Given the description of an element on the screen output the (x, y) to click on. 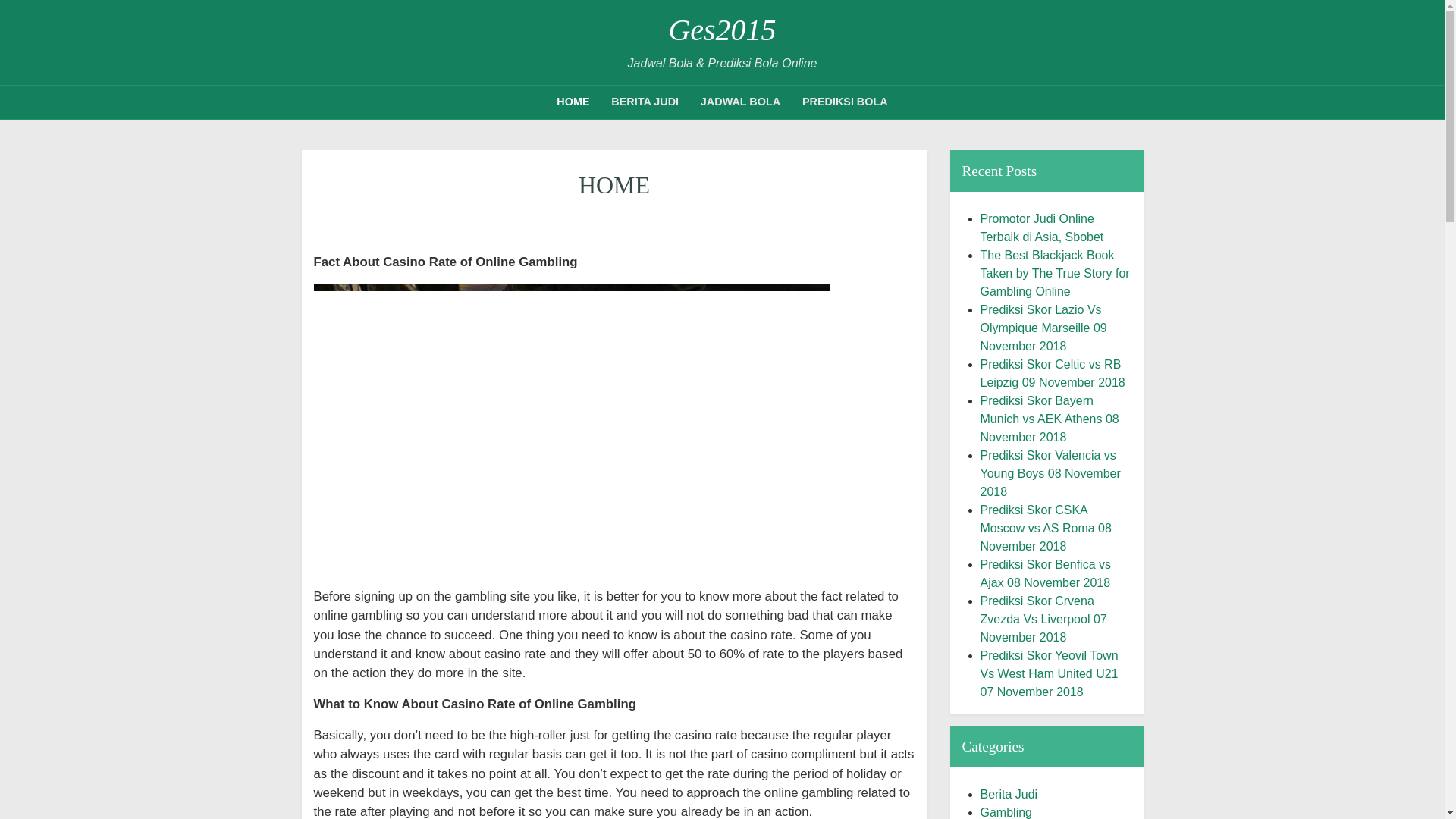
Berita Judi (644, 102)
HOME (572, 102)
Prediksi Skor Bayern Munich vs AEK Athens 08 November 2018 (1048, 418)
Prediksi Skor Valencia vs Young Boys 08 November 2018 (1049, 472)
Prediksi Skor Crvena Zvezda Vs Liverpool 07 November 2018 (1042, 618)
BERITA JUDI (644, 102)
Prediksi Skor CSKA Moscow vs AS Roma 08 November 2018 (1044, 527)
Jadwal Bola (740, 102)
JADWAL BOLA (740, 102)
Berita Judi (1007, 793)
Ges2015 (721, 30)
PREDIKSI BOLA (844, 102)
Prediksi Skor Benfica vs Ajax 08 November 2018 (1044, 572)
Home (572, 102)
